Given the description of an element on the screen output the (x, y) to click on. 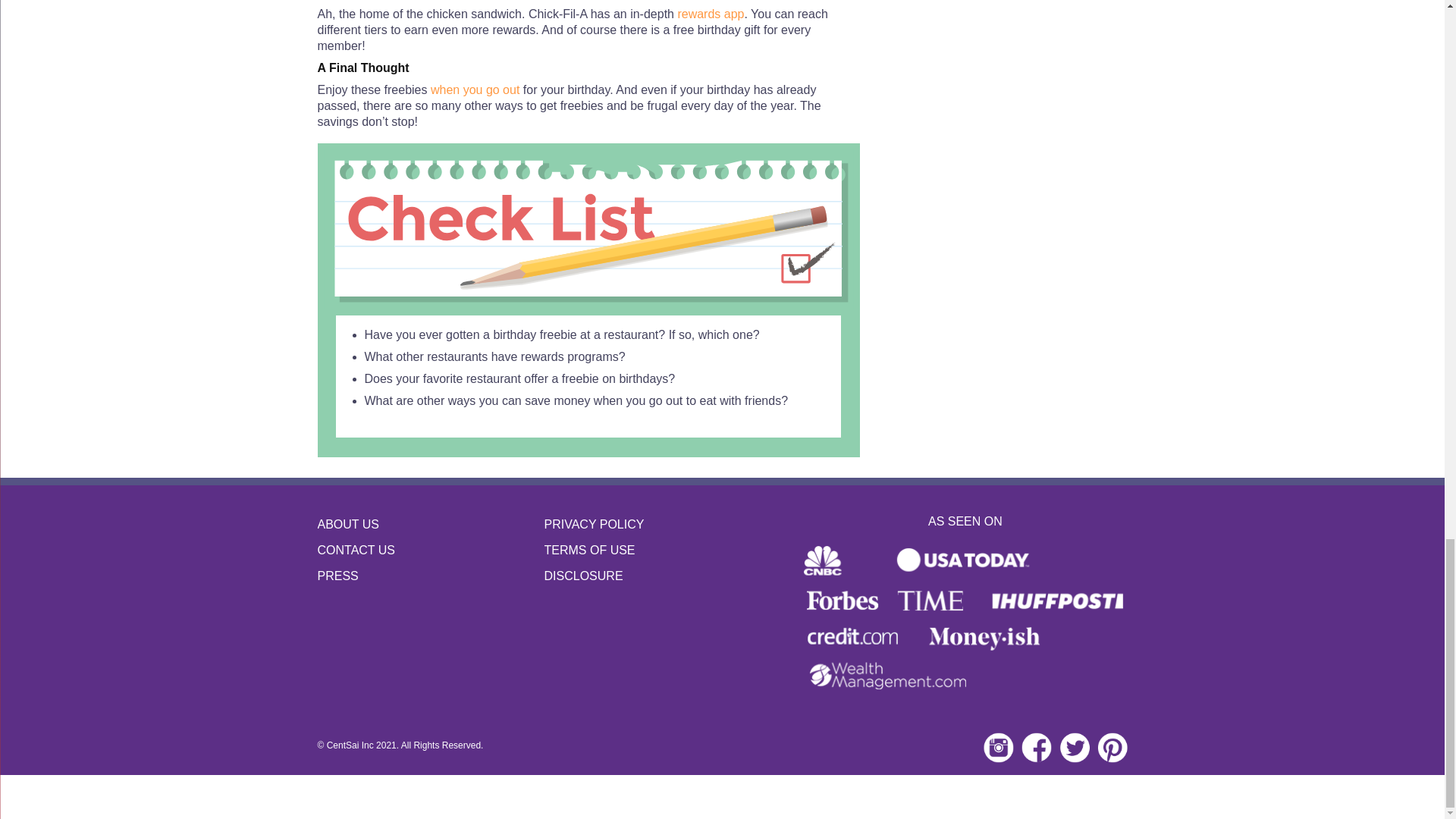
Facebook (1035, 747)
Pinterest (1111, 747)
Instagram (997, 747)
Twitter (1073, 747)
